Given the description of an element on the screen output the (x, y) to click on. 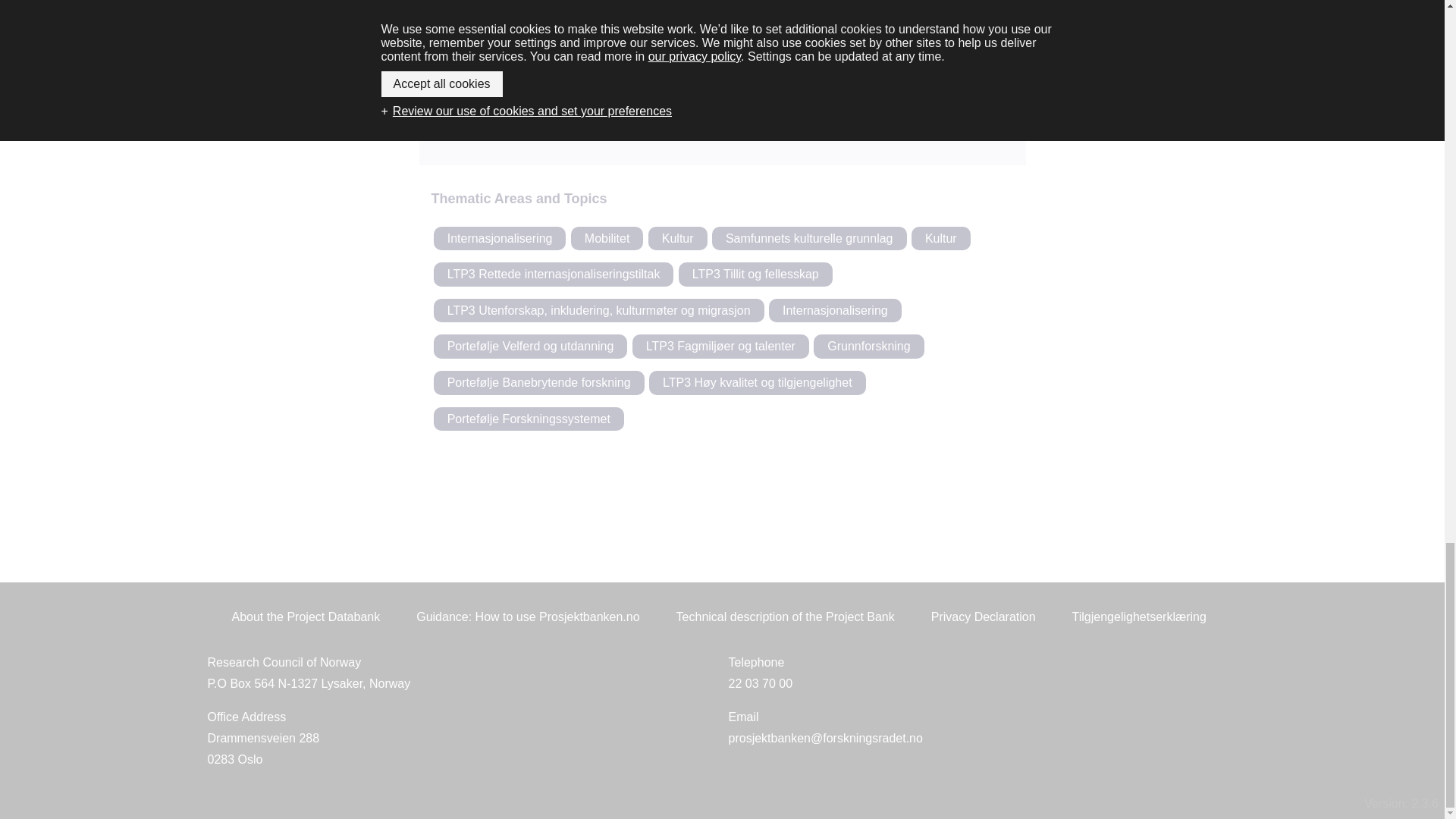
Internasjonalisering (499, 238)
Internasjonalisering (834, 310)
Kultur (941, 238)
Kultur (677, 238)
Samfunnets kulturelle grunnlag (809, 238)
Forsvarsdepartemente (741, 122)
Mobilitet (606, 238)
LTP3 Tillit og fellesskap (755, 274)
Diverse (721, 6)
LTP3 Rettede internasjonaliseringstiltak (628, 122)
Kunnskapsdepartement (553, 274)
